Given the description of an element on the screen output the (x, y) to click on. 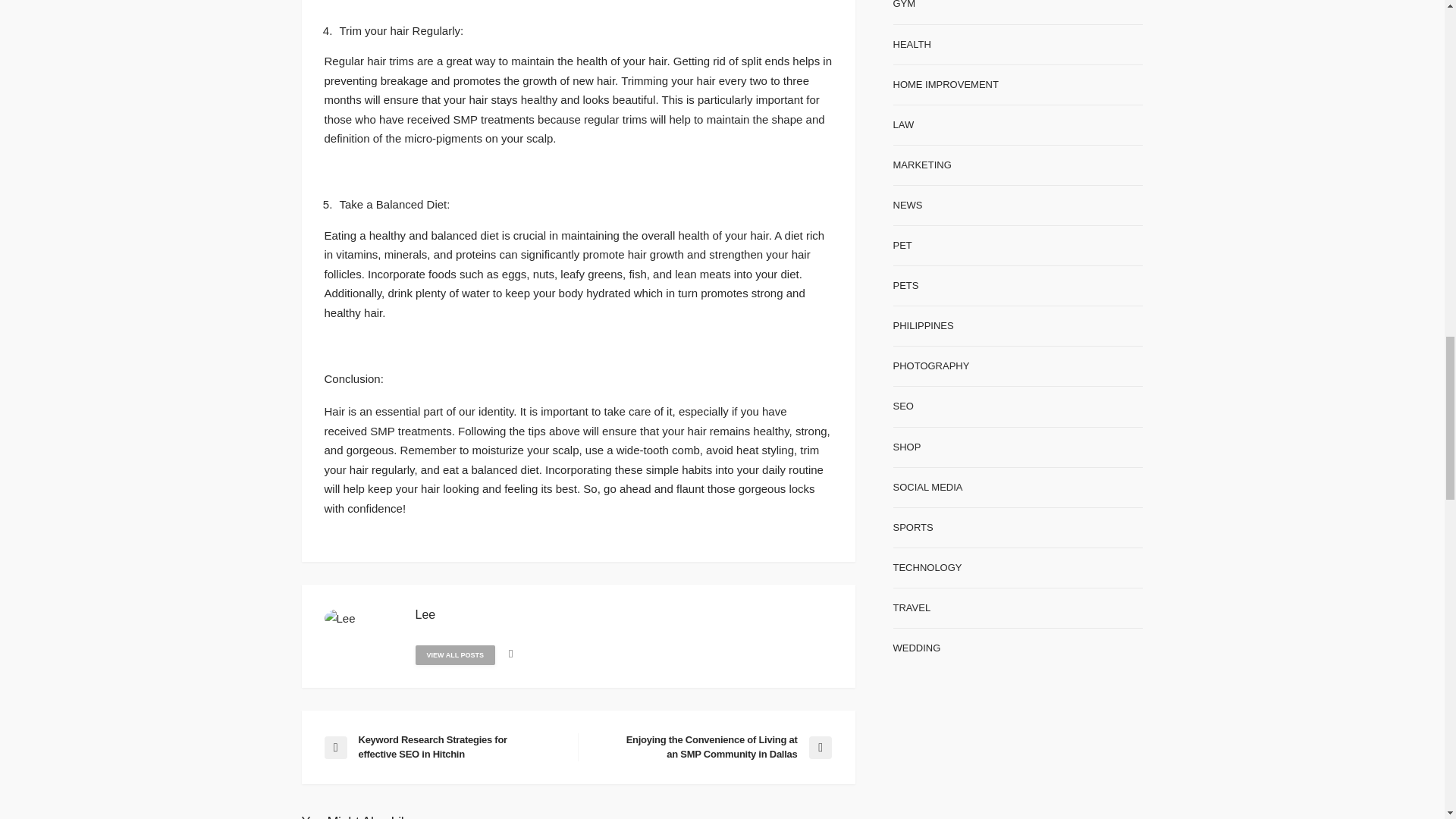
VIEW ALL POSTS (455, 655)
Keyword Research Strategies for effective SEO in Hitchin  (443, 746)
Lee (424, 614)
